Given the description of an element on the screen output the (x, y) to click on. 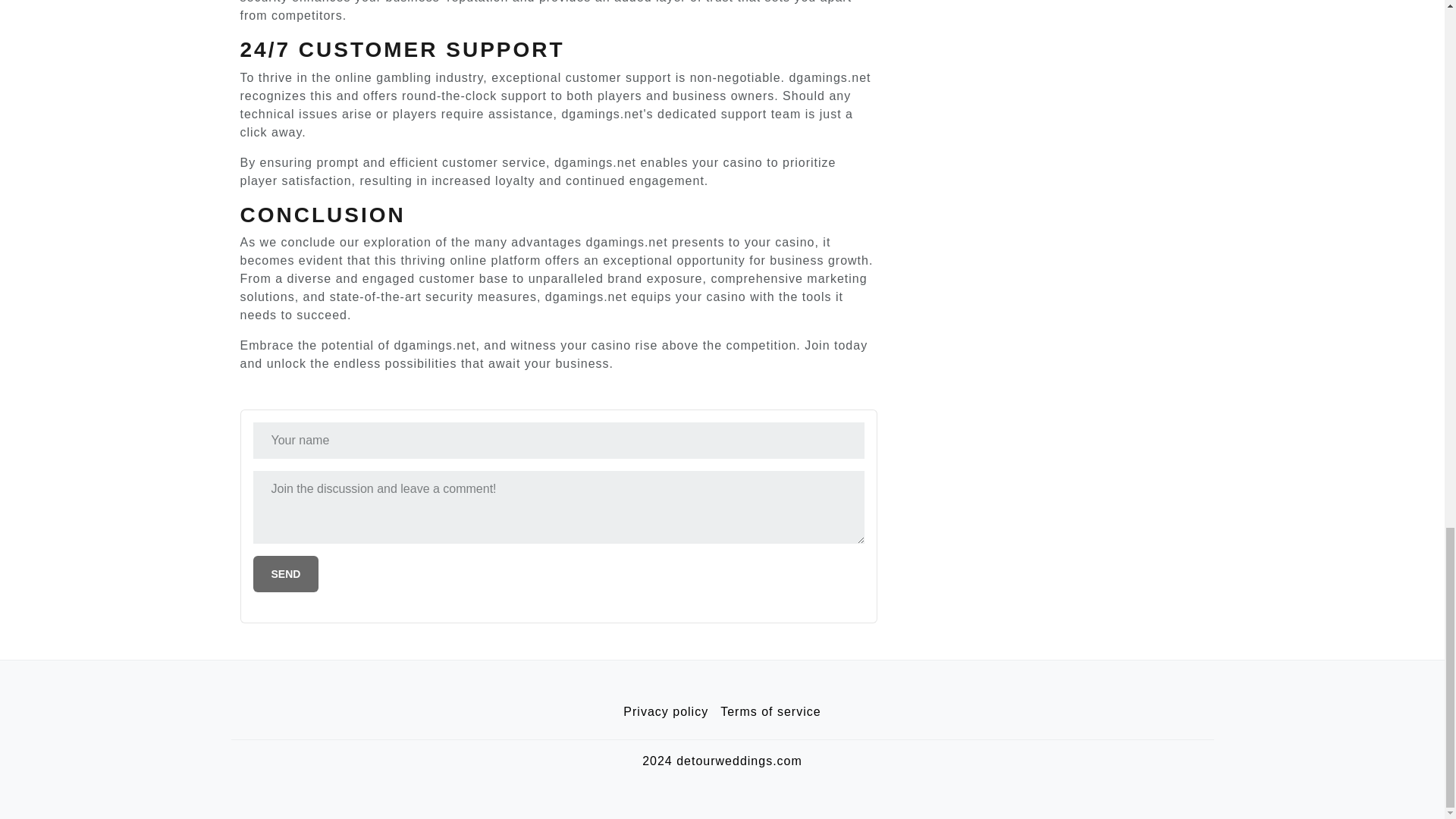
Send (285, 574)
Send (285, 574)
Privacy policy (665, 711)
Terms of service (770, 711)
